Given the description of an element on the screen output the (x, y) to click on. 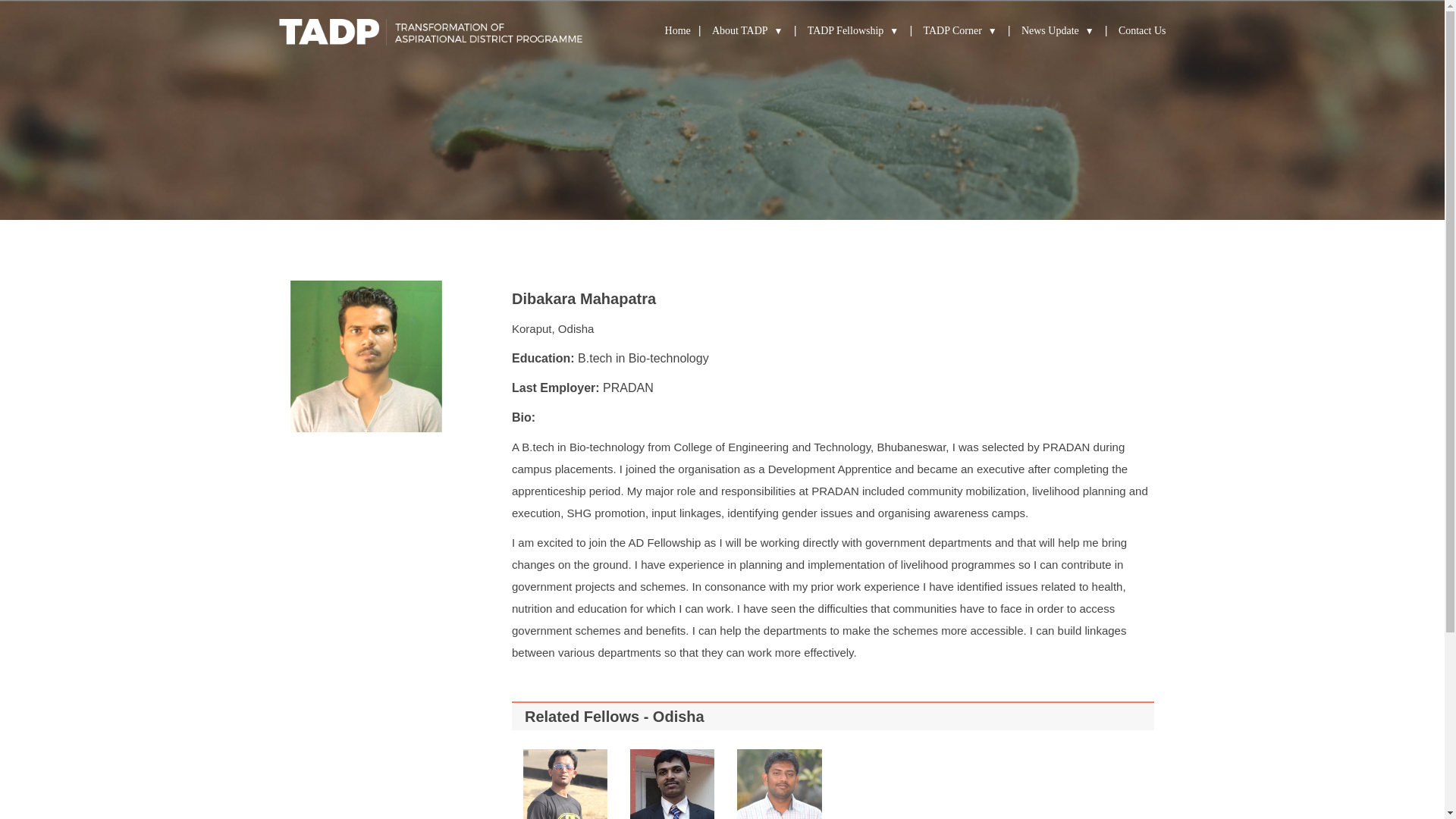
Home (677, 30)
TADP Fellowship (853, 30)
Contact Us (1142, 30)
About TADP (747, 30)
News Update (1058, 30)
TADP Corner (960, 30)
